Given the description of an element on the screen output the (x, y) to click on. 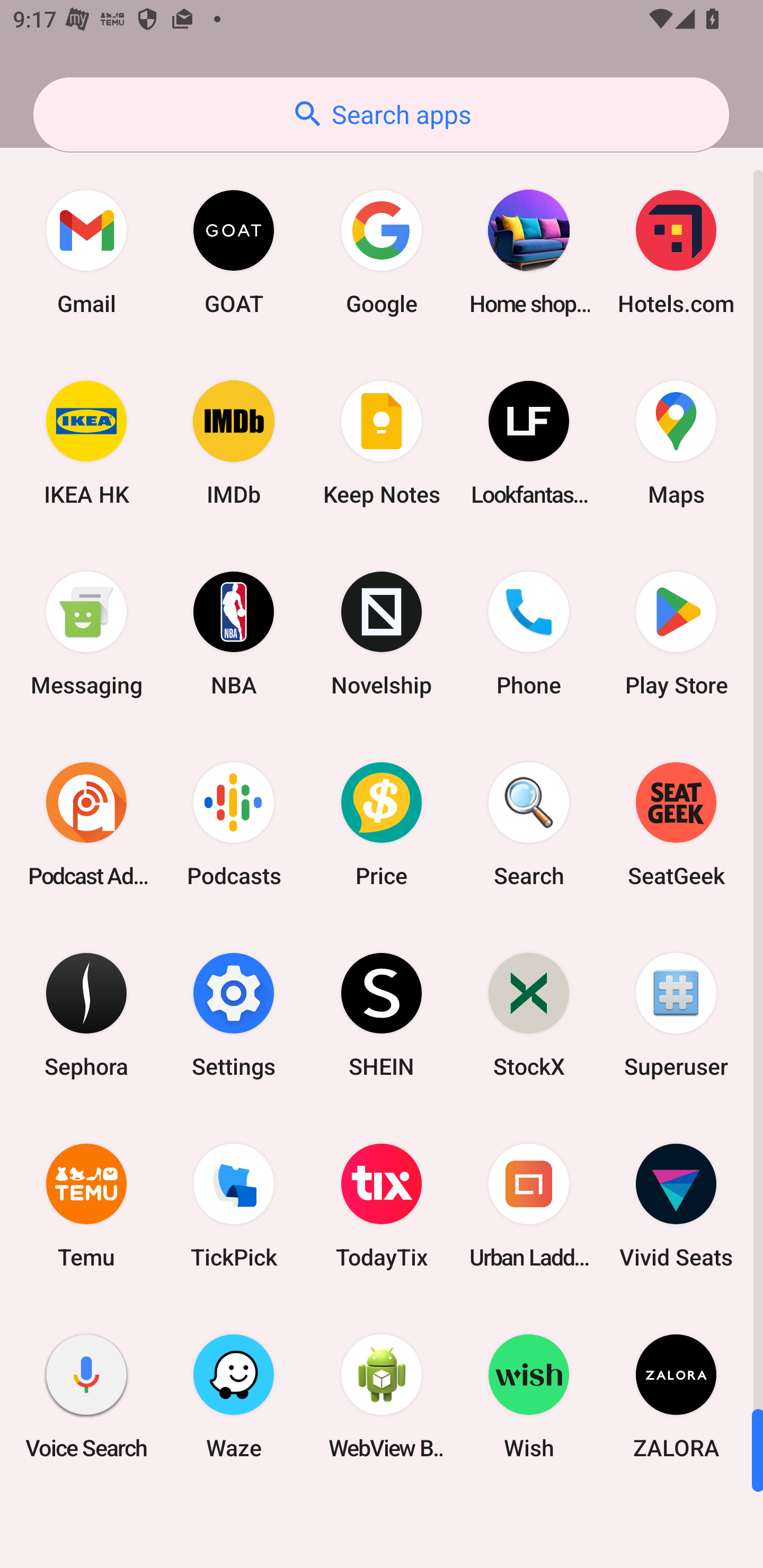
  Search apps (381, 114)
Gmail (86, 252)
GOAT (233, 252)
Google (381, 252)
Home shopping (528, 252)
Hotels.com (676, 252)
IKEA HK (86, 442)
IMDb (233, 442)
Keep Notes (381, 442)
Lookfantastic (528, 442)
Maps (676, 442)
Messaging (86, 633)
NBA (233, 633)
Novelship (381, 633)
Phone (528, 633)
Play Store (676, 633)
Podcast Addict (86, 823)
Podcasts (233, 823)
Price (381, 823)
Search (528, 823)
SeatGeek (676, 823)
Sephora (86, 1014)
Settings (233, 1014)
SHEIN (381, 1014)
StockX (528, 1014)
Superuser (676, 1014)
Temu (86, 1205)
TickPick (233, 1205)
TodayTix (381, 1205)
Urban Ladder (528, 1205)
Vivid Seats (676, 1205)
Voice Search (86, 1396)
Waze (233, 1396)
WebView Browser Tester (381, 1396)
Wish (528, 1396)
ZALORA (676, 1396)
